Given the description of an element on the screen output the (x, y) to click on. 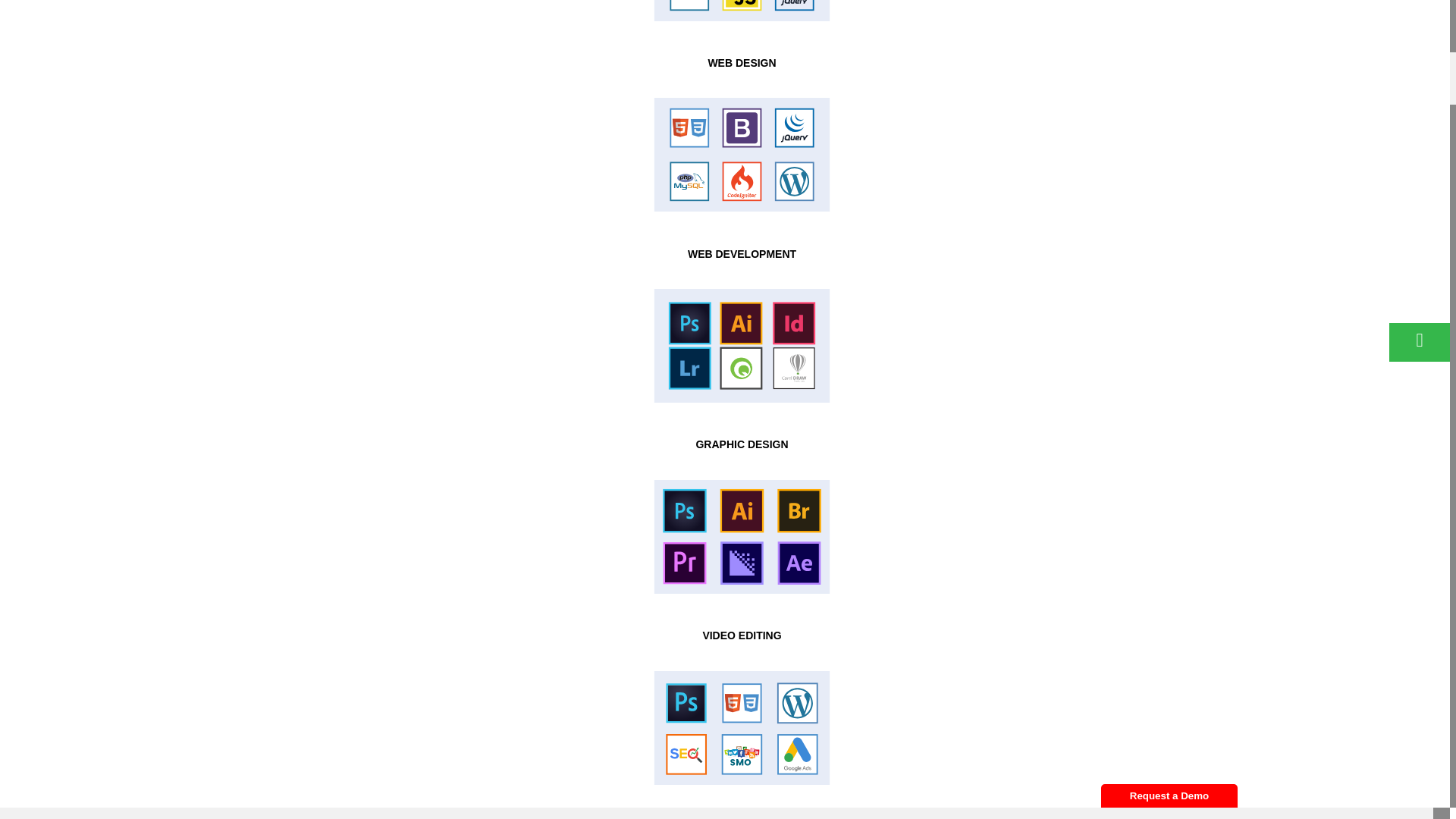
VIDEO EDITING (740, 635)
WEB DEVELOPMENT (741, 254)
GRAPHIC DESIGN (741, 444)
WEB DESIGN (741, 62)
